Given the description of an element on the screen output the (x, y) to click on. 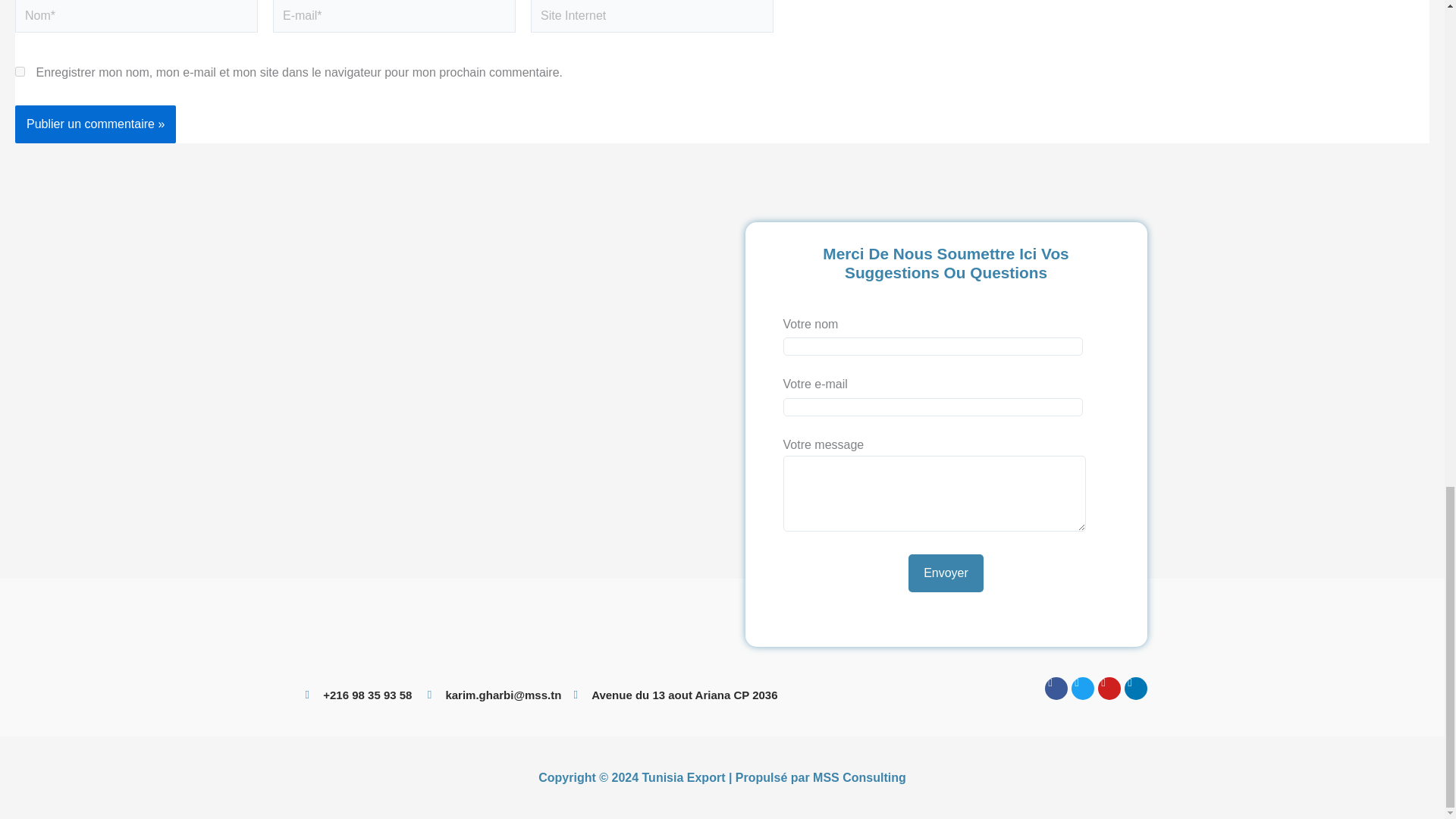
yes (19, 71)
Envoyer (946, 573)
Envoyer (946, 573)
